Given the description of an element on the screen output the (x, y) to click on. 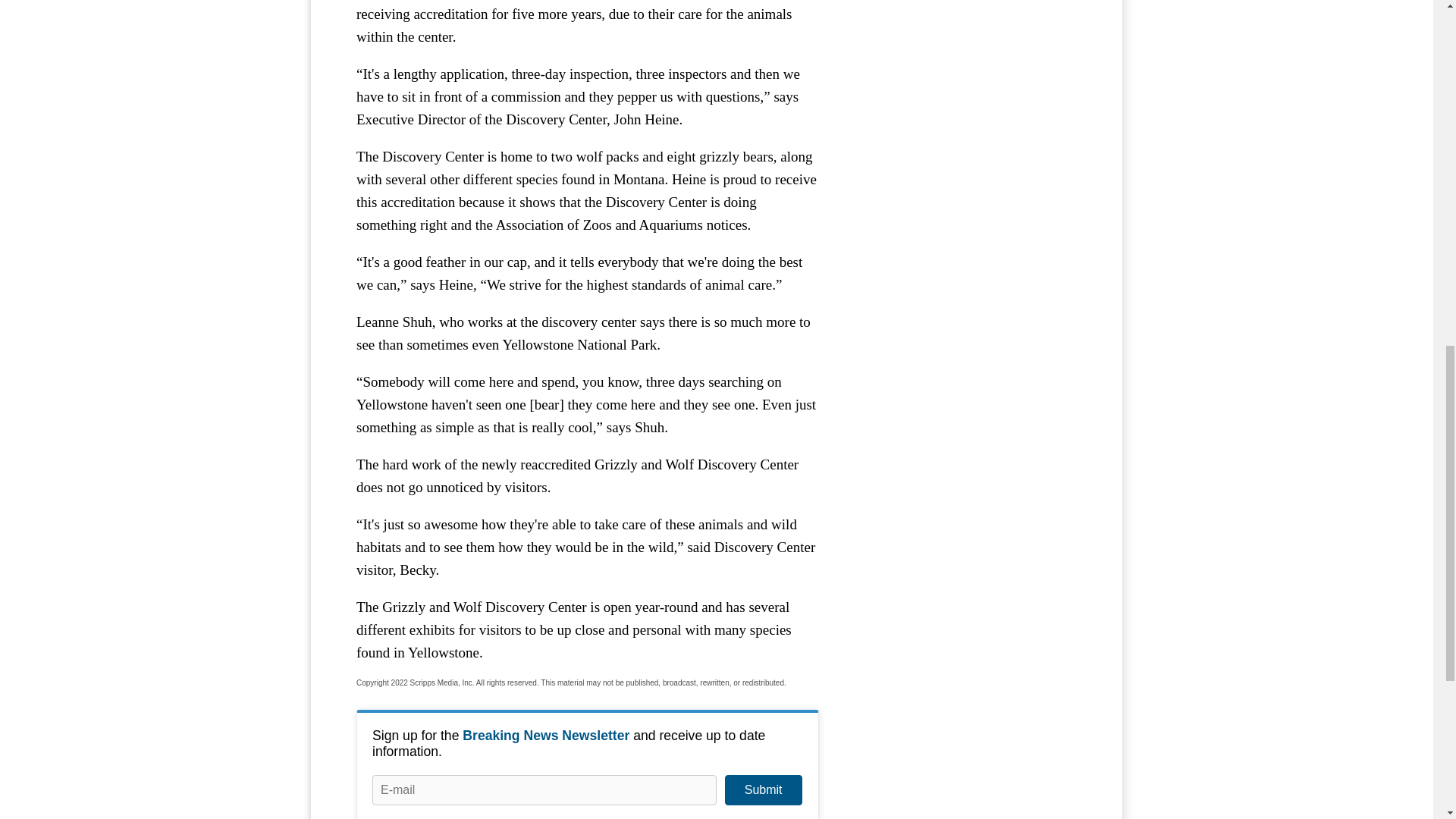
Submit (763, 789)
